Given the description of an element on the screen output the (x, y) to click on. 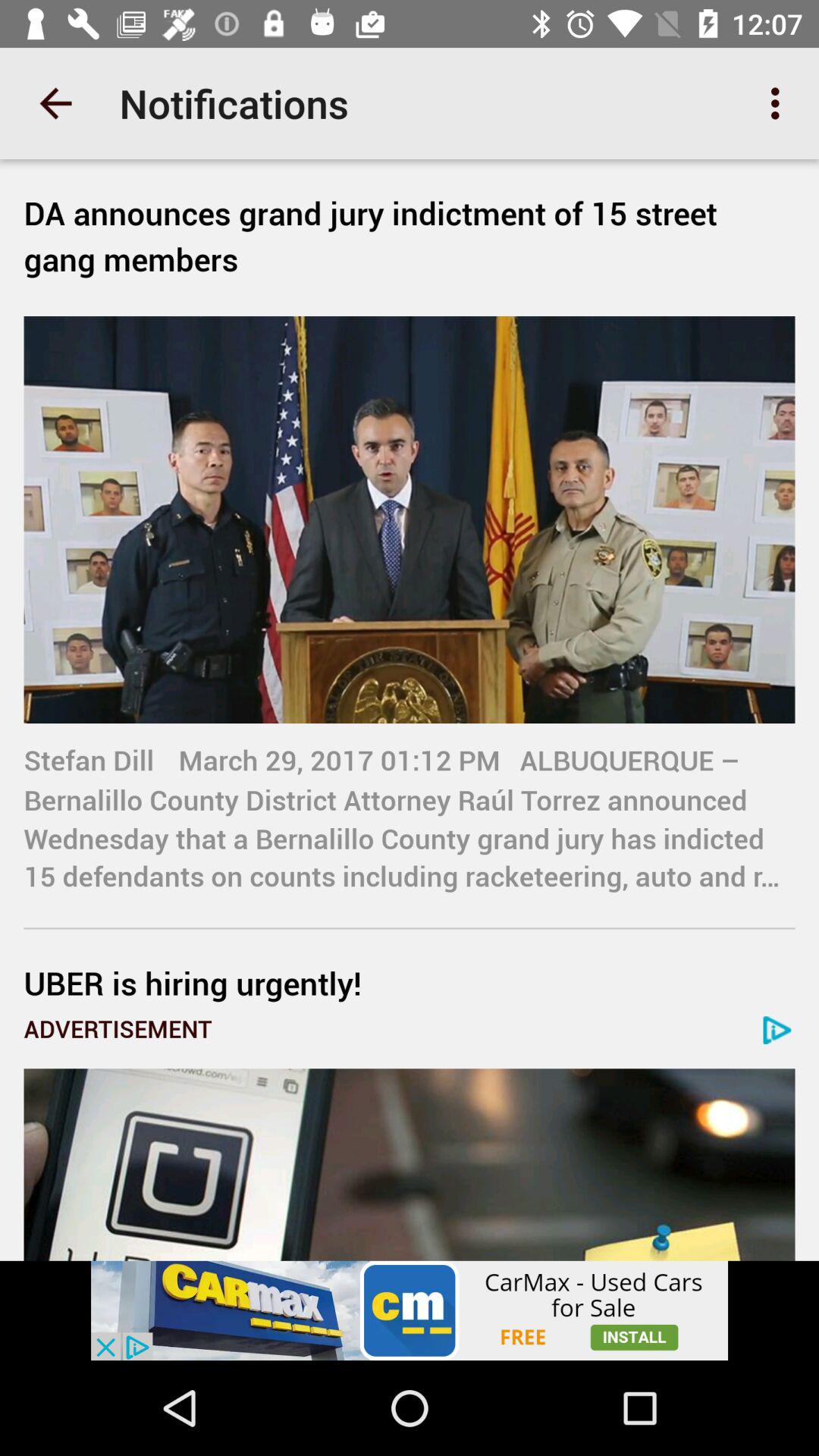
advertisement link (409, 1164)
